Given the description of an element on the screen output the (x, y) to click on. 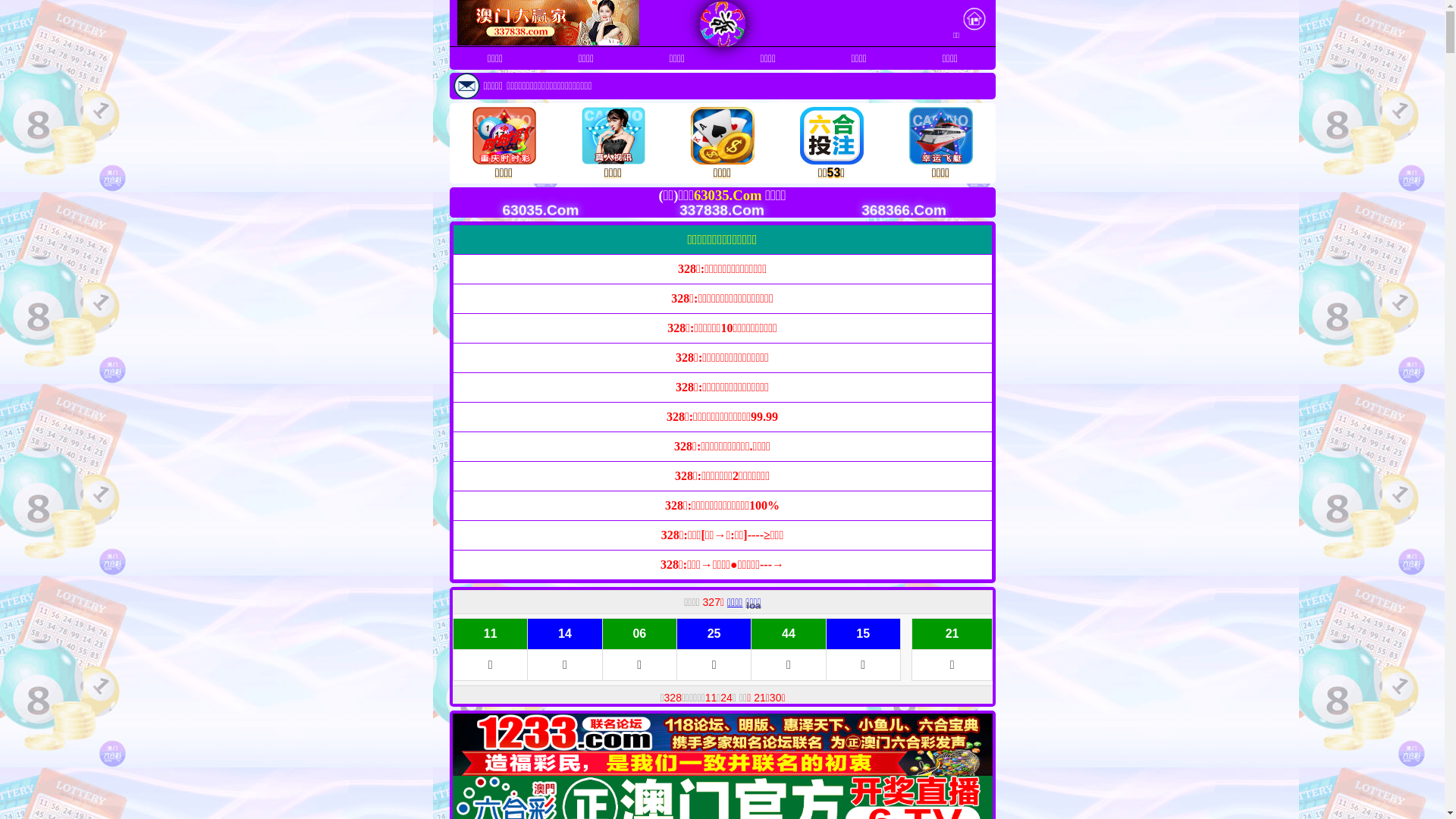
337838.Com Element type: text (708, 209)
368366.Com Element type: text (889, 209)
63035.Com Element type: text (527, 209)
